Given the description of an element on the screen output the (x, y) to click on. 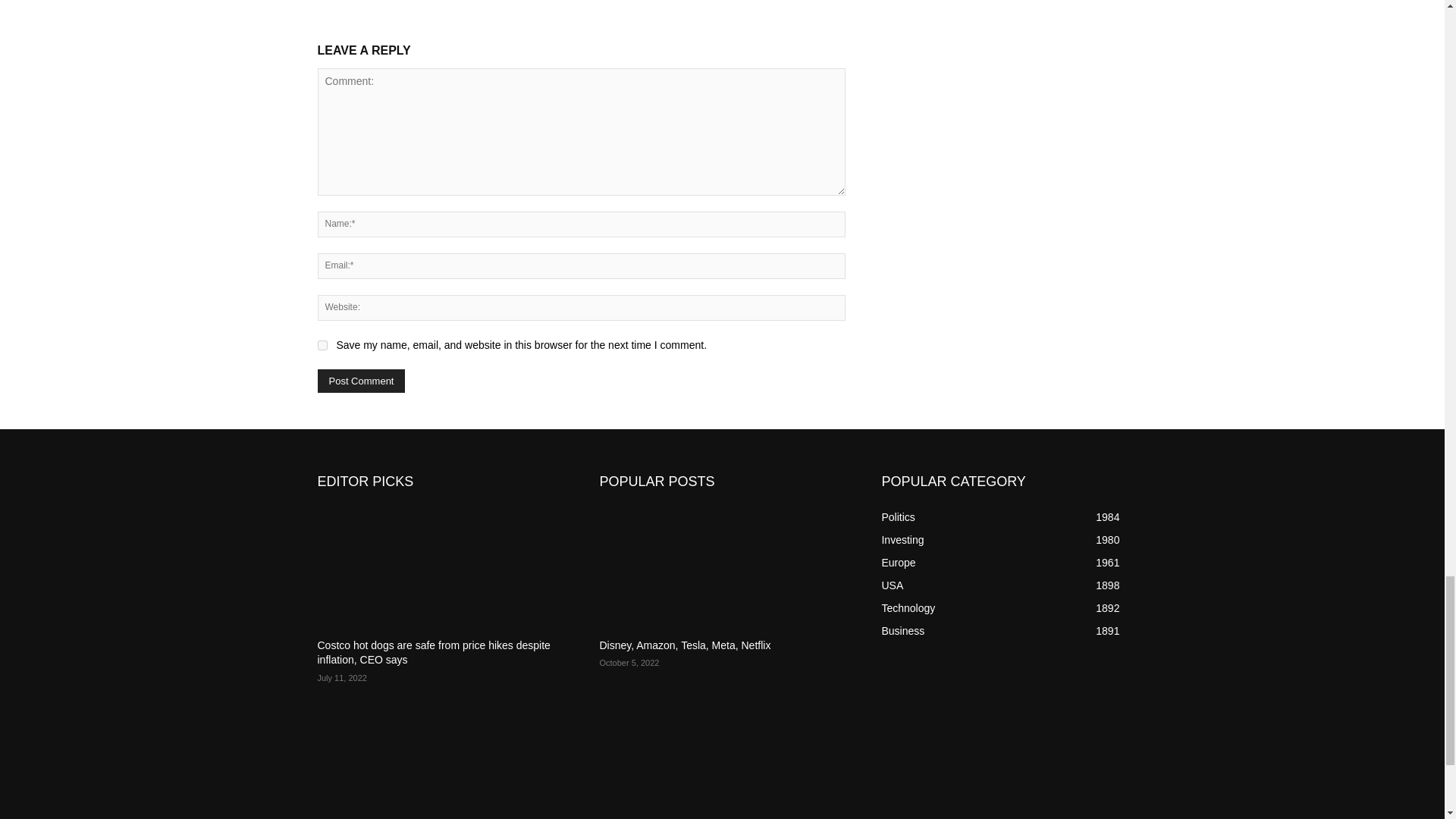
Post Comment (360, 381)
yes (321, 345)
